Given the description of an element on the screen output the (x, y) to click on. 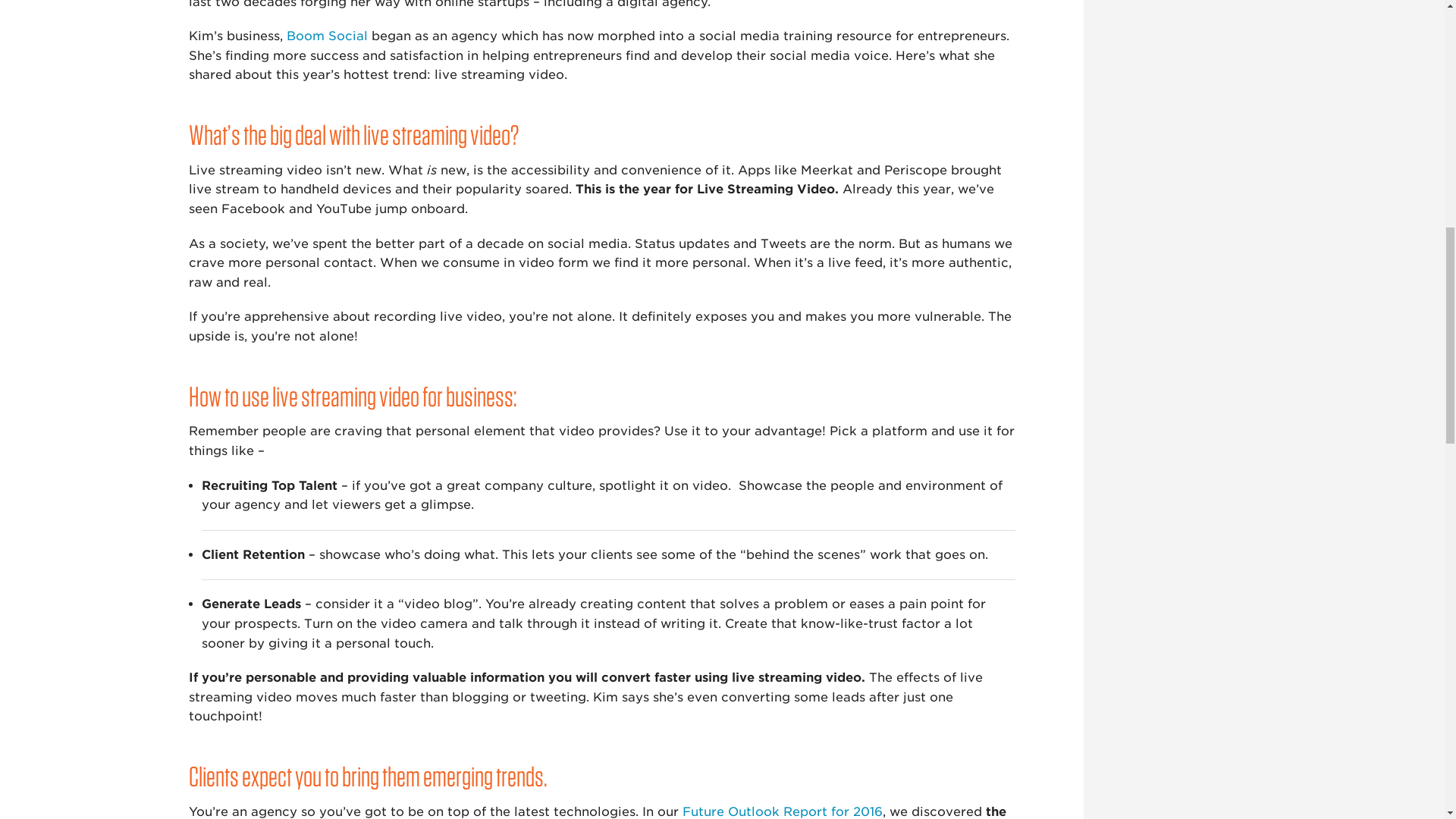
Boom Social (327, 35)
Future Outlook Report for 2016 (782, 811)
